Given the description of an element on the screen output the (x, y) to click on. 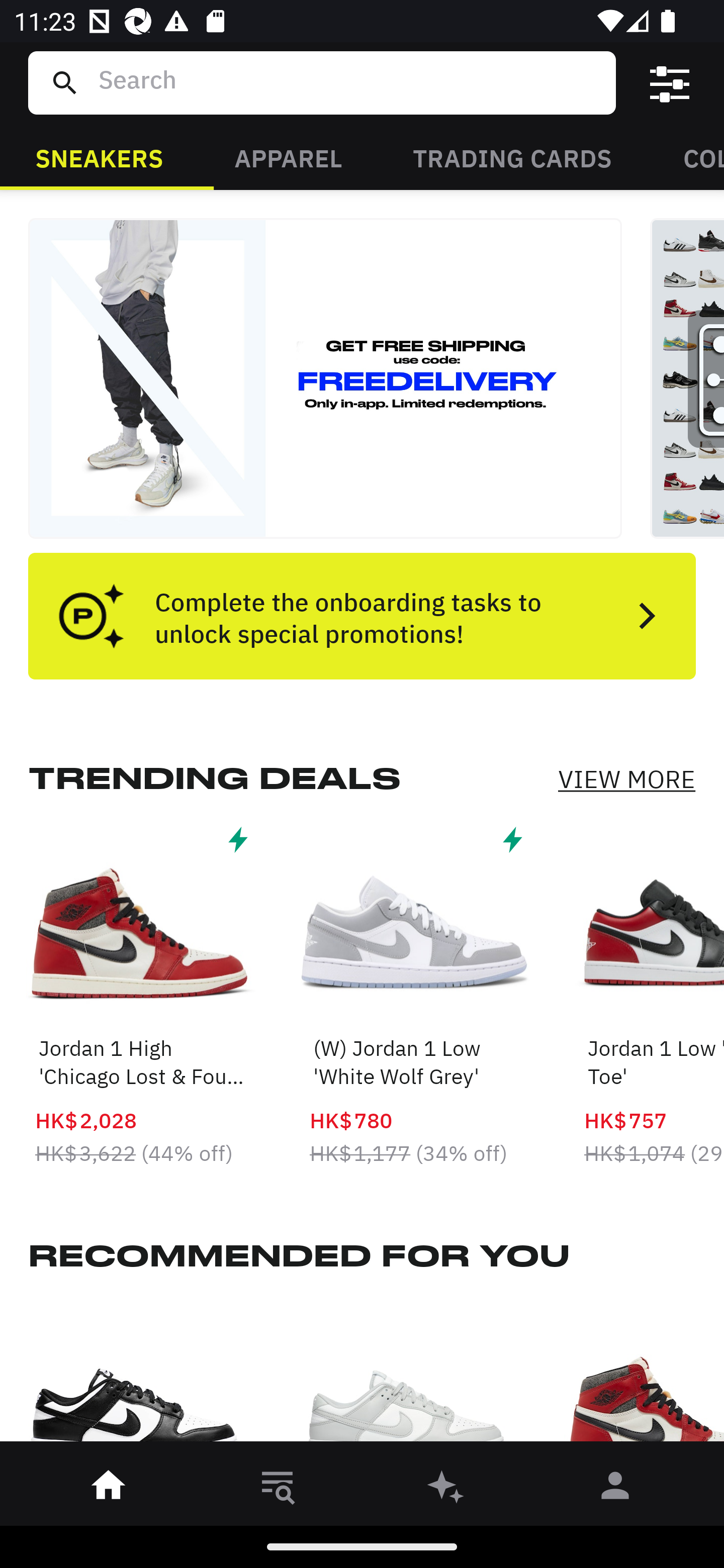
Search (349, 82)
 (669, 82)
SNEAKERS (99, 156)
APPAREL (287, 156)
TRADING CARDS (512, 156)
VIEW MORE (626, 779)
󰋜 (108, 1488)
󱎸 (277, 1488)
󰫢 (446, 1488)
󰀄 (615, 1488)
